Given the description of an element on the screen output the (x, y) to click on. 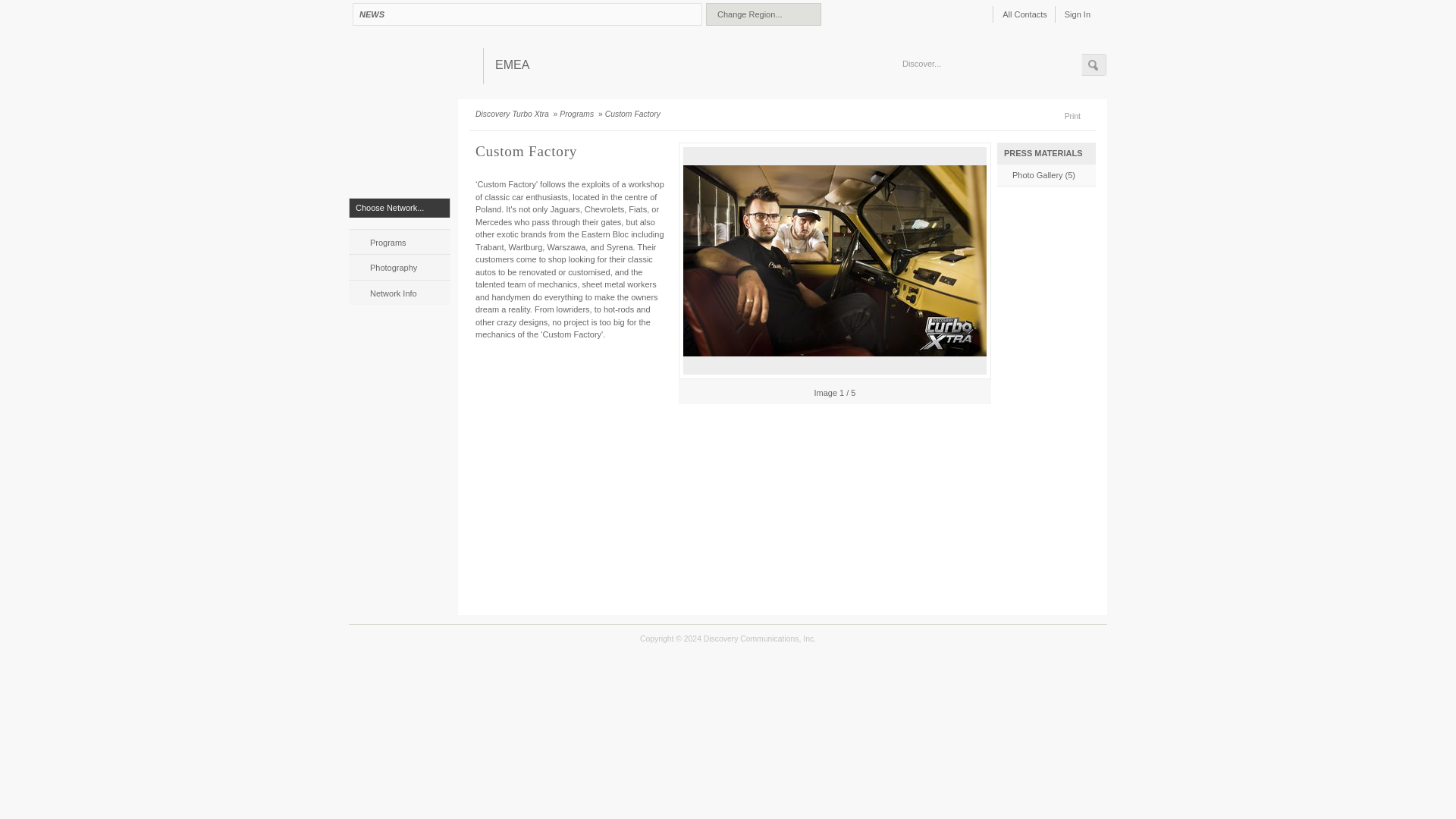
Discover... (991, 63)
All Contacts (1023, 13)
Next (983, 391)
Previous (686, 391)
Search (1093, 64)
Discovery Press Web (413, 66)
Programs (577, 113)
Programs (399, 241)
Discovery Turbo Xtra (513, 113)
Photography (399, 266)
